Given the description of an element on the screen output the (x, y) to click on. 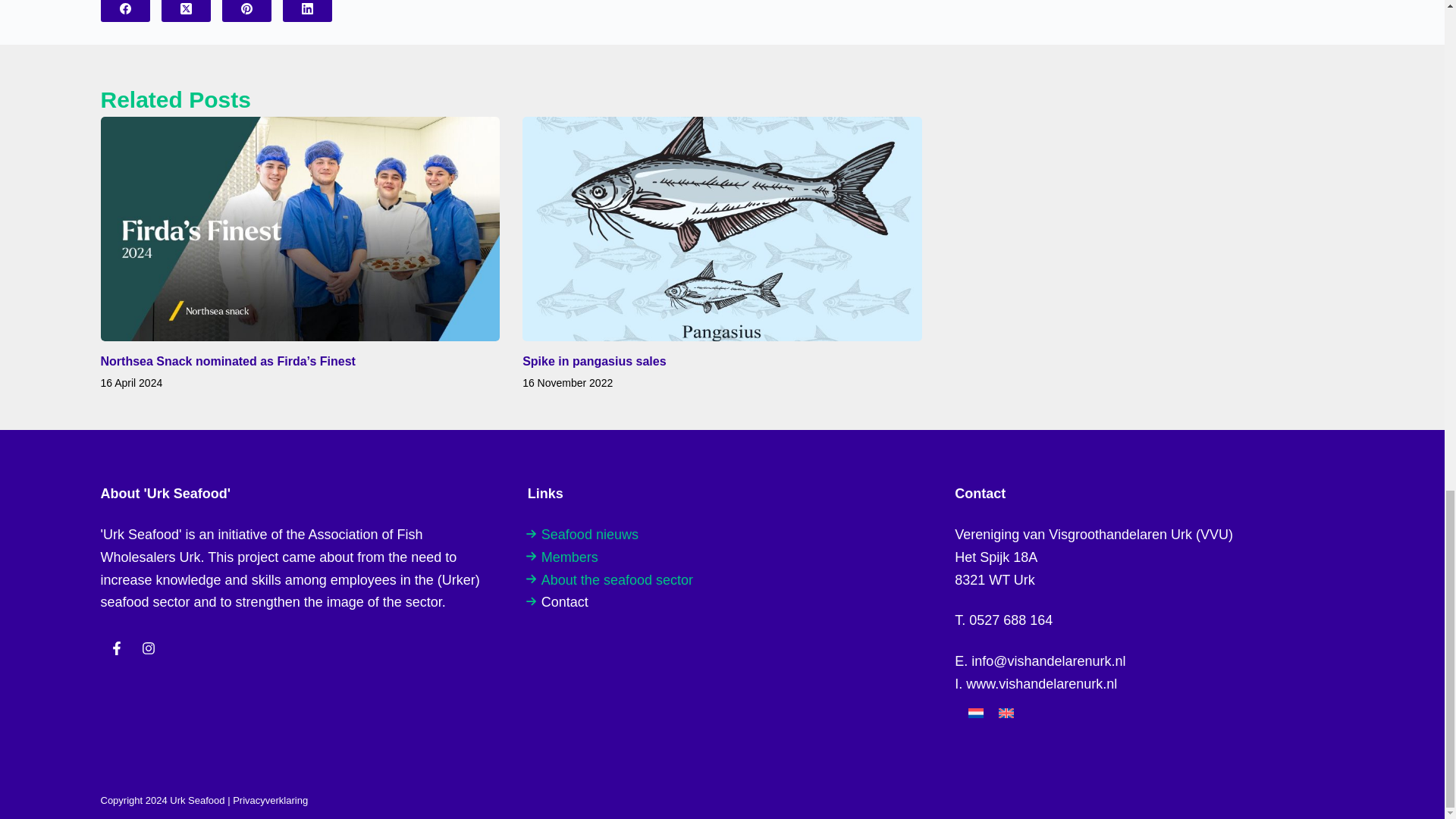
Privacyverklaring (269, 799)
www.vishandelarenurk.nl (1041, 683)
Contact (564, 601)
About the seafood sector (617, 579)
Spike in pangasius sales (593, 360)
0527 688 164 (1010, 620)
Seafood nieuws (590, 534)
Members (569, 557)
